Given the description of an element on the screen output the (x, y) to click on. 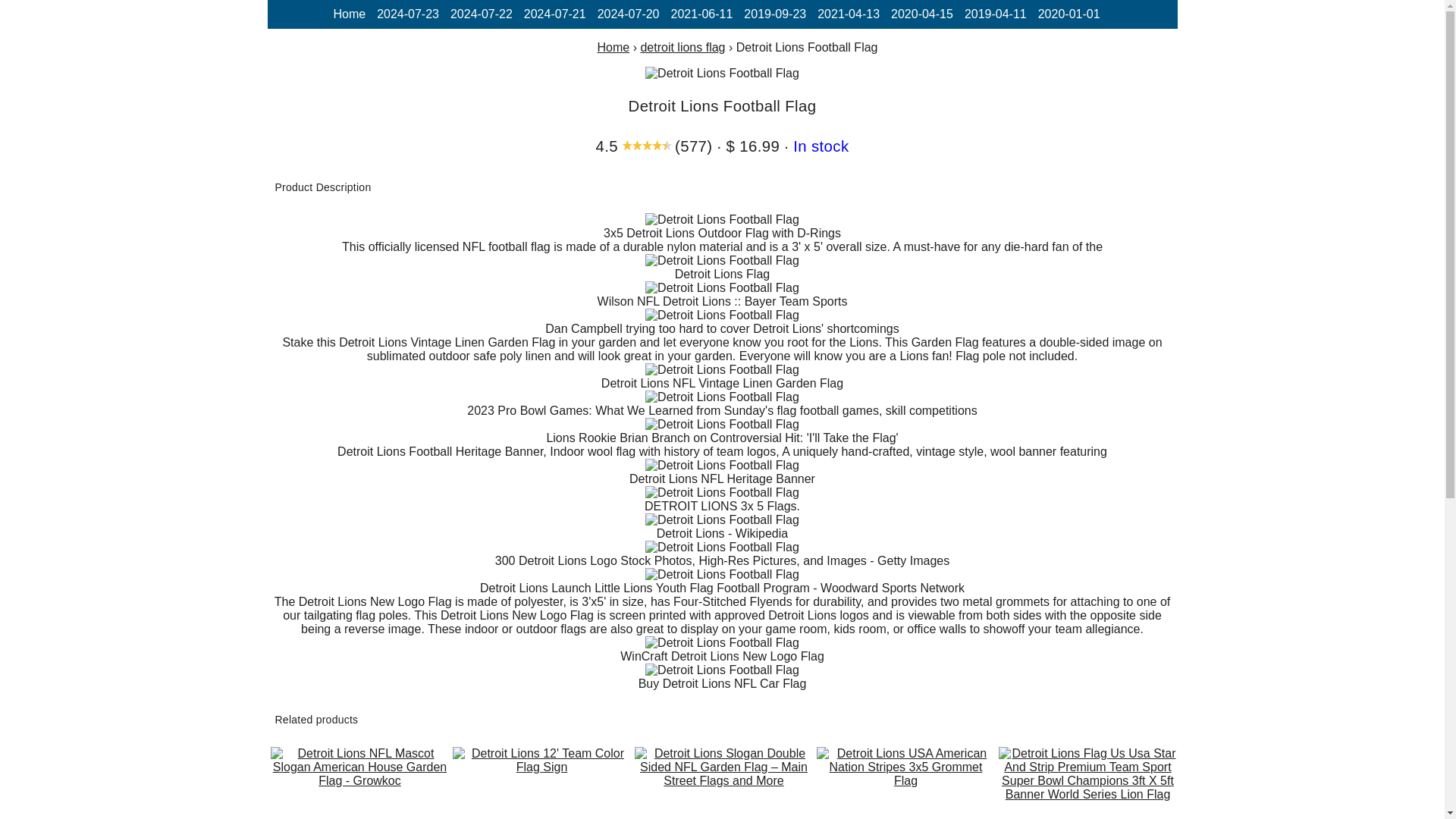
2024-07-22 (480, 13)
Detroit Lions Football Flag (722, 465)
2019-09-23 (775, 13)
Detroit Lions Football Flag (722, 397)
Detroit Lions Football Flag (722, 492)
Detroit Lions Football Flag (722, 574)
Detroit Lions Football Flag (722, 219)
Detroit Lions Football Flag (722, 670)
Detroit Lions Football Flag (722, 643)
Home (349, 13)
Home (613, 47)
Detroit Lions 12' Team Color Flag Sign (540, 759)
2024-07-23 (408, 13)
Detroit Lions Football Flag (722, 315)
